Given the description of an element on the screen output the (x, y) to click on. 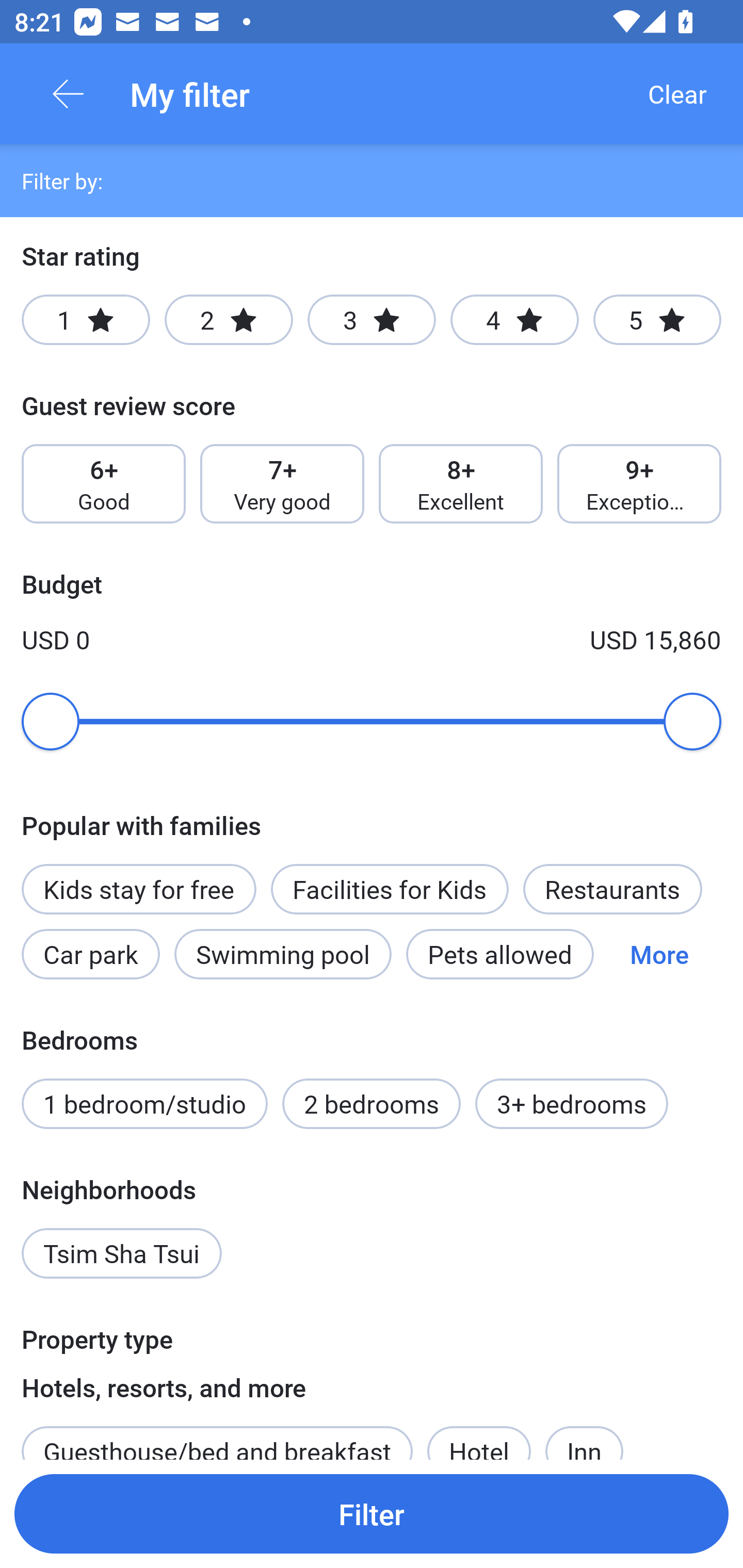
Clear (676, 93)
1 (85, 319)
2 (228, 319)
3 (371, 319)
4 (514, 319)
5 (657, 319)
6+ Good (103, 483)
7+ Very good (281, 483)
8+ Excellent (460, 483)
9+ Exceptional (639, 483)
Kids stay for free (138, 888)
Facilities for Kids (389, 888)
Restaurants (612, 888)
Car park (90, 954)
Swimming pool (282, 954)
Pets allowed (499, 954)
More (659, 954)
1 bedroom/studio (144, 1103)
2 bedrooms (371, 1103)
3+ bedrooms (571, 1103)
Tsim Sha Tsui (121, 1253)
Guesthouse/bed and breakfast (217, 1433)
Hotel (479, 1433)
Inn (583, 1433)
Filter (371, 1513)
